Given the description of an element on the screen output the (x, y) to click on. 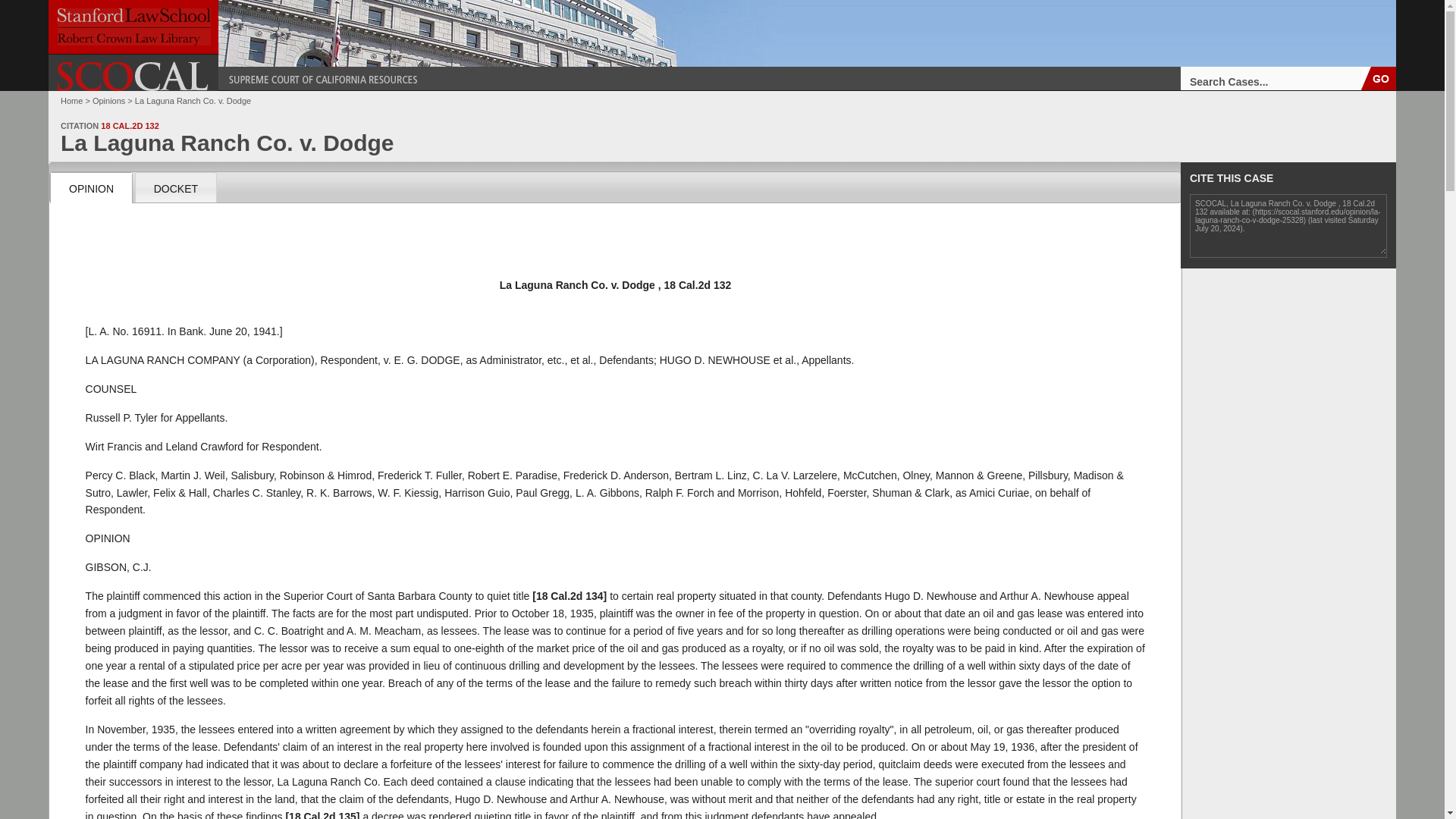
Search Cases... (1270, 78)
Supreme Court of California (133, 76)
DOCKET (175, 187)
OPINION (91, 187)
Opinions (109, 100)
Stanford Law School - Robert Crown Law Library (133, 27)
Search Cases... (1270, 78)
Search (1378, 78)
Home (71, 100)
Search (1378, 78)
